Given the description of an element on the screen output the (x, y) to click on. 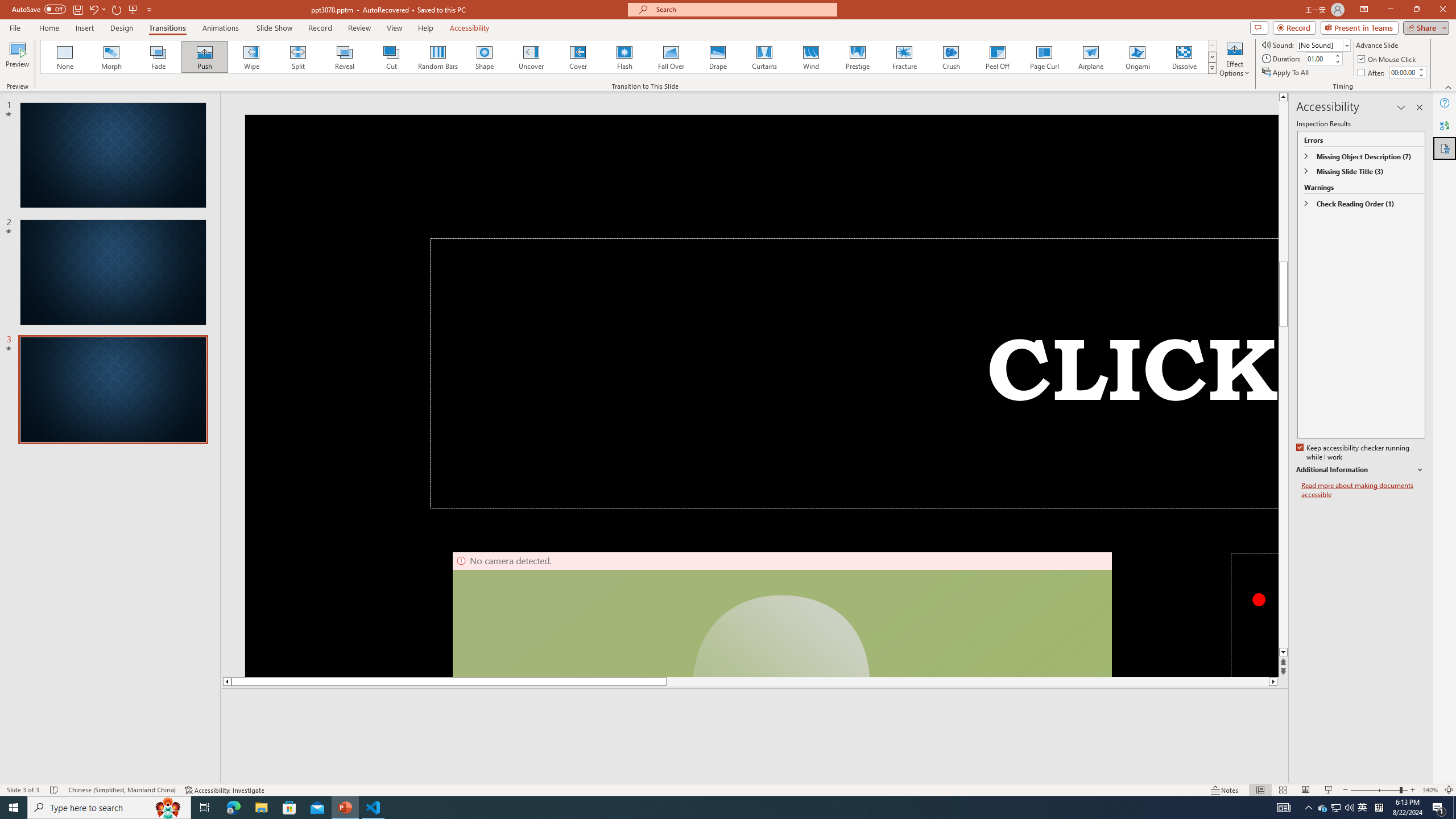
Duration (1319, 58)
Peel Off (997, 56)
Page Curl (1043, 56)
On Mouse Click (1387, 58)
Wind (810, 56)
Fracture (903, 56)
